Given the description of an element on the screen output the (x, y) to click on. 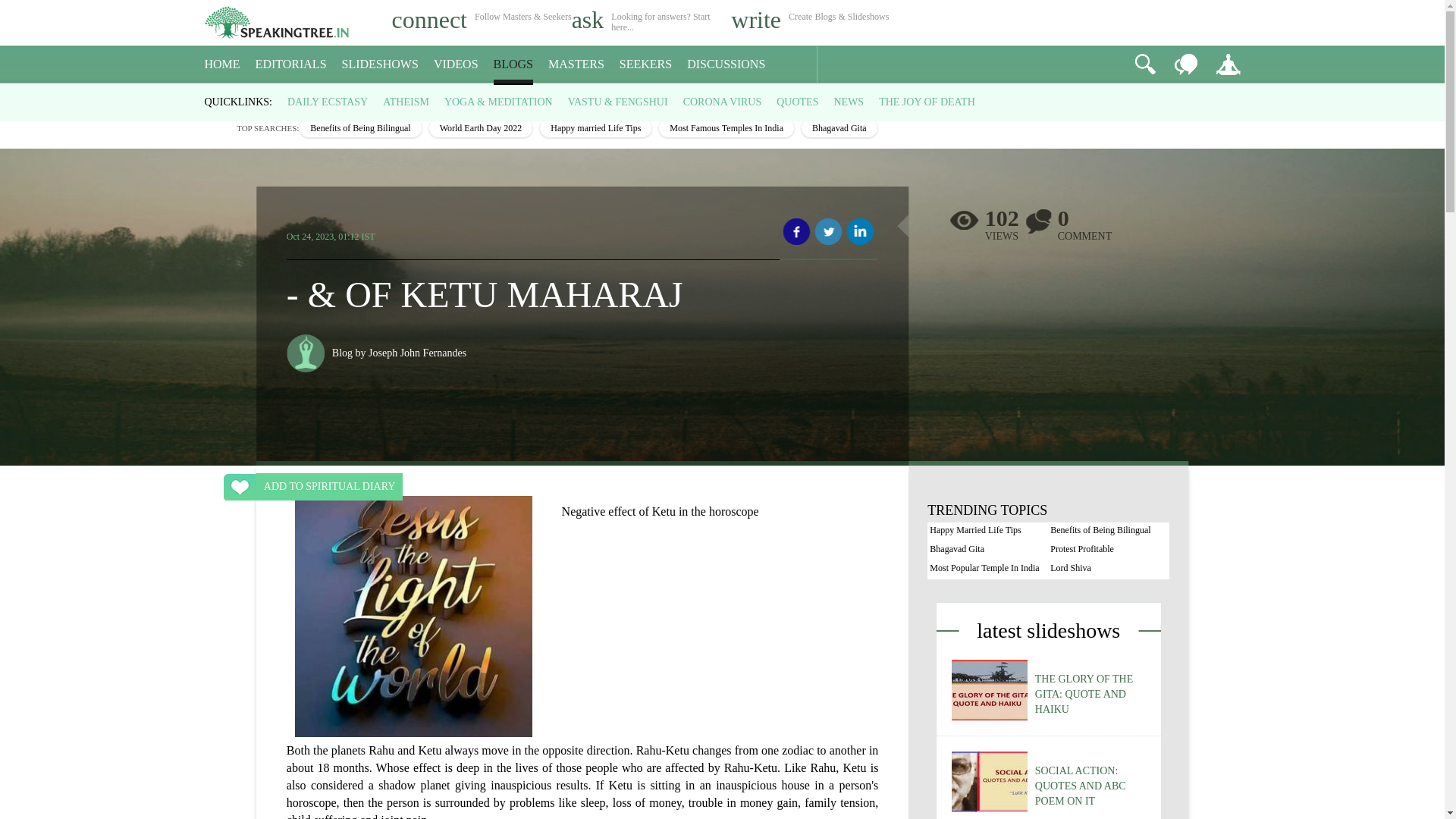
Blogs (251, 96)
ATHEISM (405, 101)
BLOGS (512, 64)
DISCUSSIONS (726, 64)
DAILY ECSTASY (327, 101)
Share on Facebook (796, 231)
HOME (222, 64)
CORONA VIRUS (721, 101)
EDITORIALS (291, 64)
VIDEOS (456, 64)
